Given the description of an element on the screen output the (x, y) to click on. 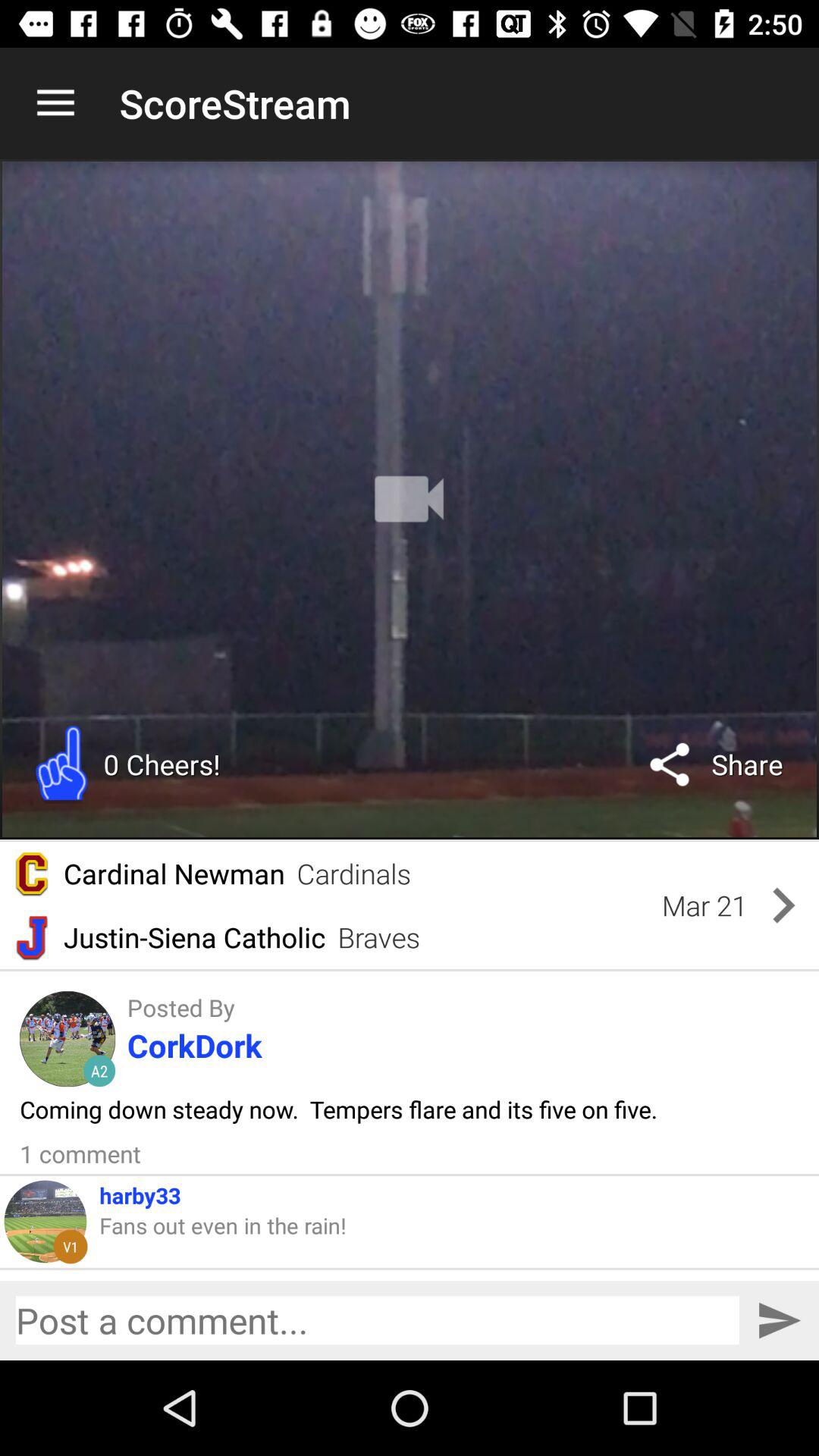
select the 1 comment icon (80, 1153)
